Given the description of an element on the screen output the (x, y) to click on. 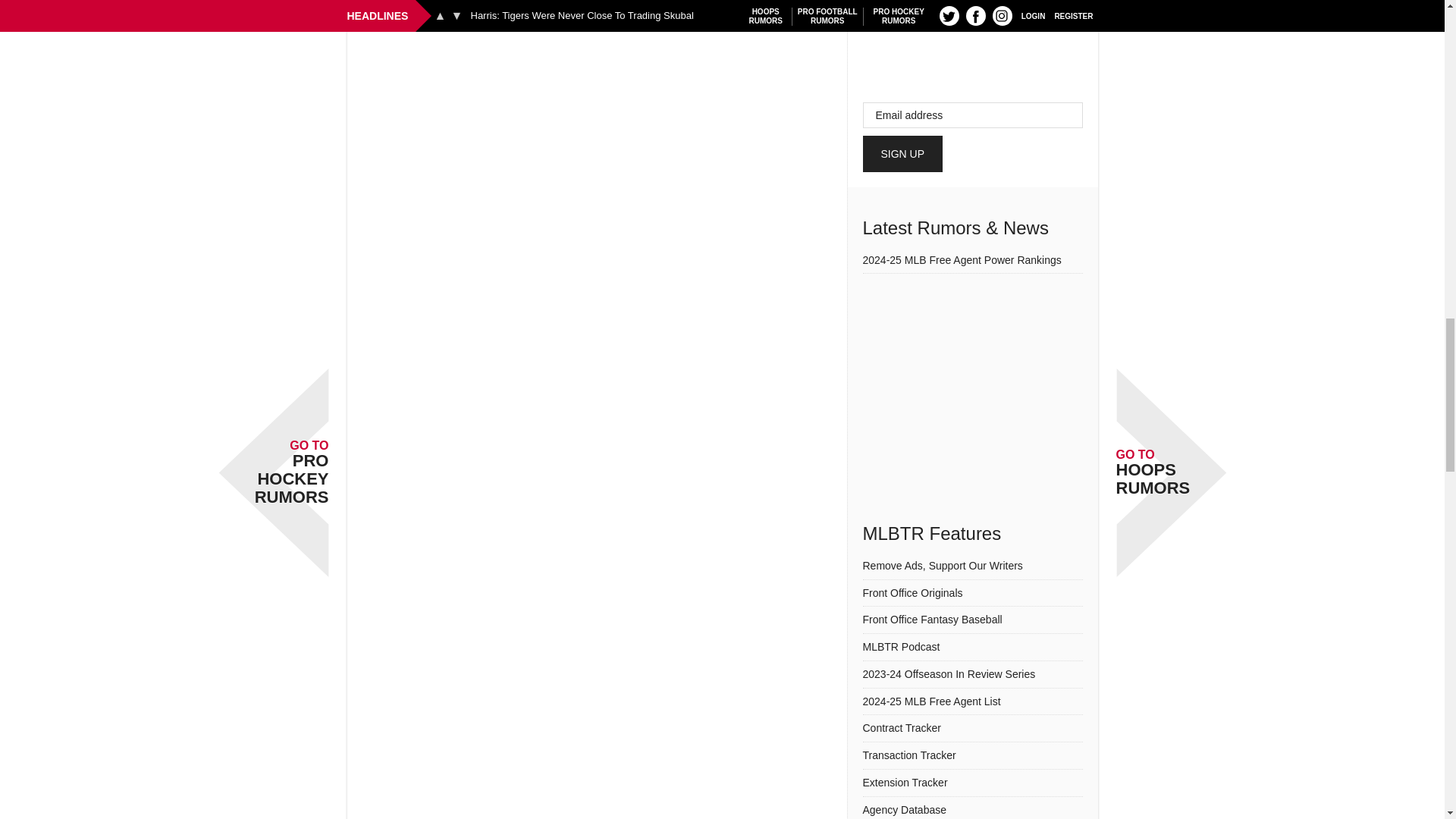
Sign Up (903, 153)
